Given the description of an element on the screen output the (x, y) to click on. 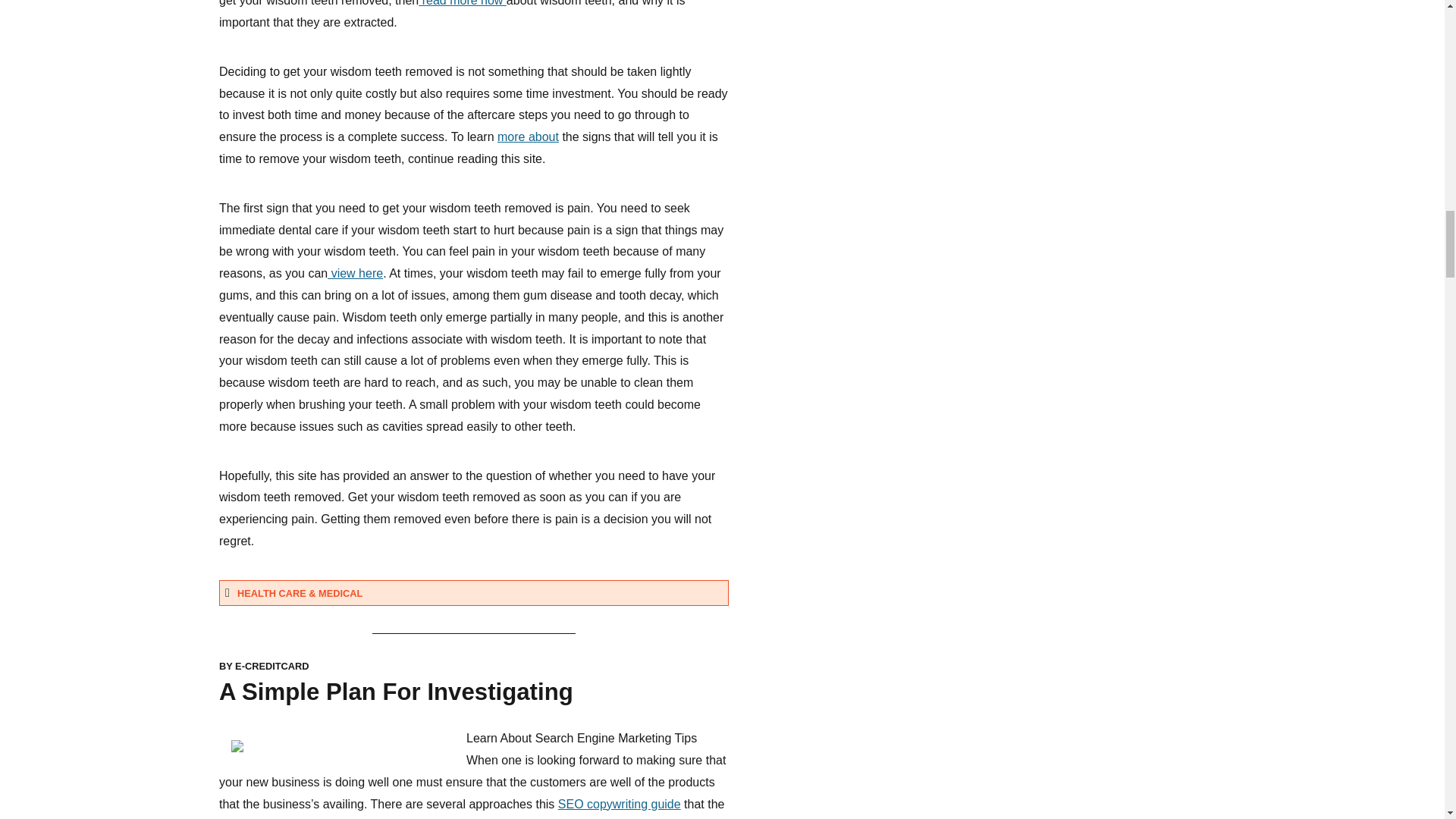
read more now (462, 3)
A Simple Plan For Investigating (396, 691)
SEO copywriting guide (619, 803)
view here (354, 273)
more about (528, 136)
